Given the description of an element on the screen output the (x, y) to click on. 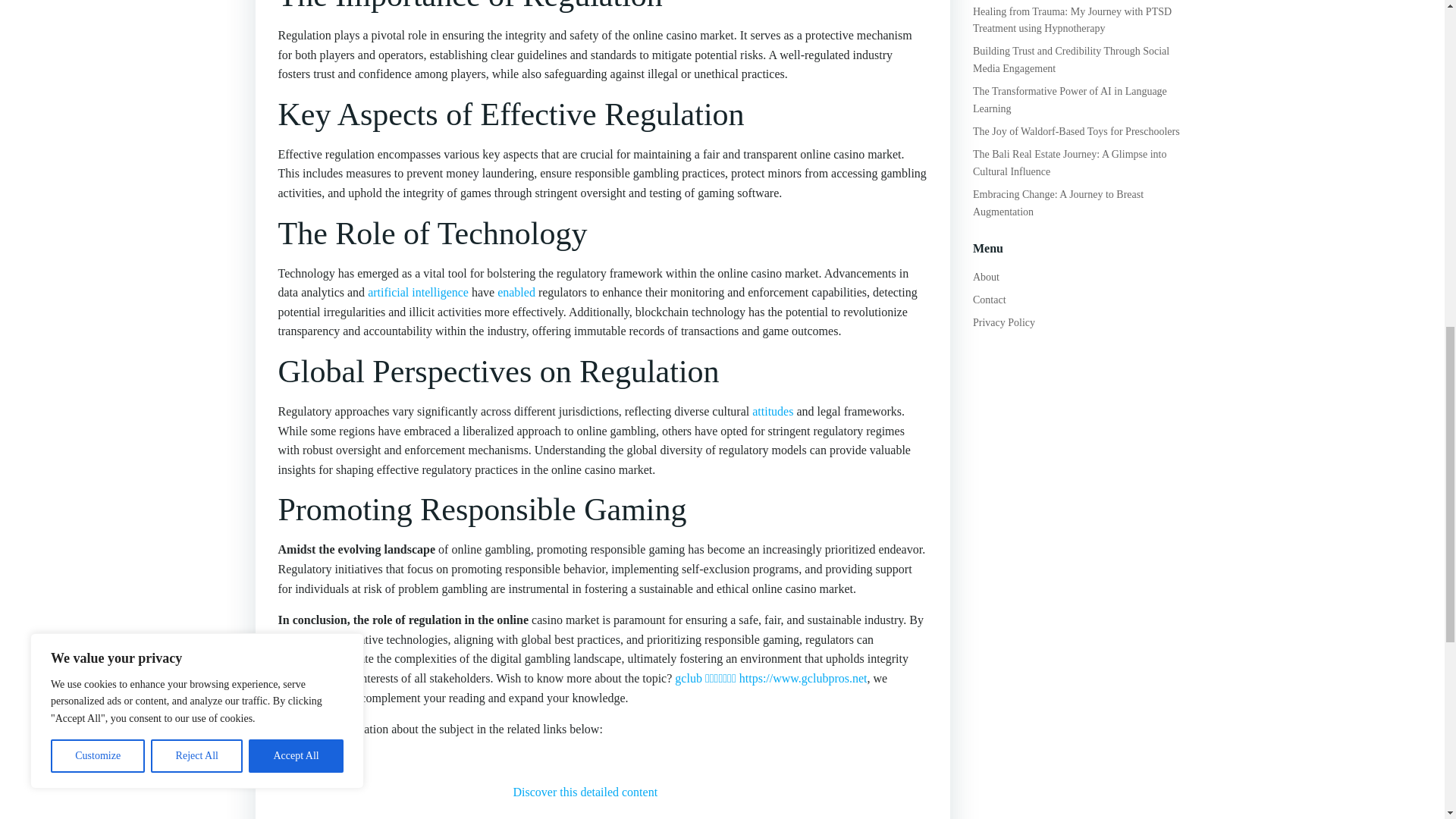
artificial intelligence (418, 291)
See this (296, 760)
attitudes (772, 410)
enabled (516, 291)
Discover this detailed content (585, 791)
